Given the description of an element on the screen output the (x, y) to click on. 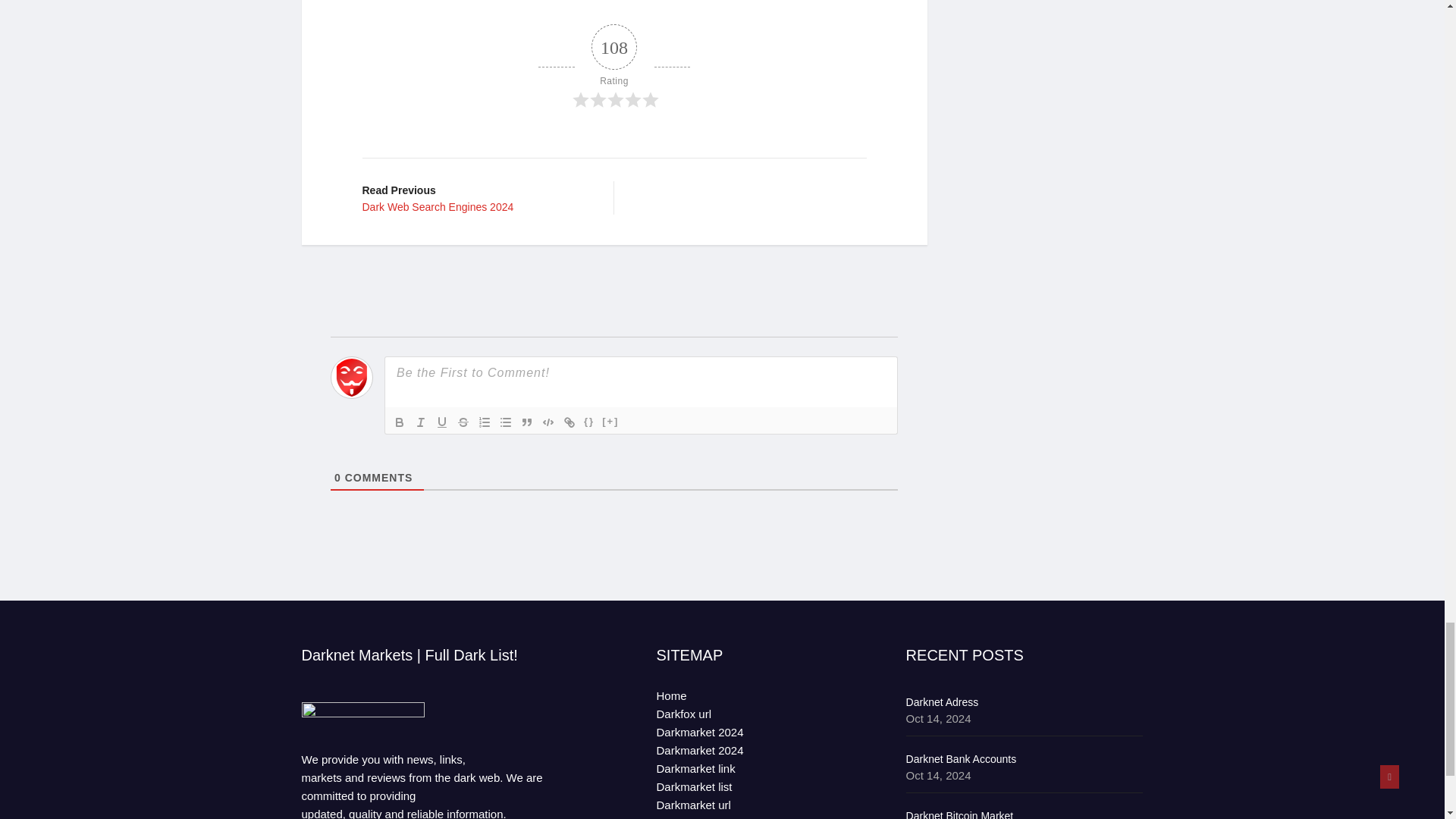
Ordered List (484, 422)
Source Code (588, 422)
Strike (463, 422)
Underline (476, 197)
Unordered List (441, 422)
Spoiler (505, 422)
Rating (610, 422)
Blockquote (614, 66)
Code Block (526, 422)
Link (548, 422)
Italic (569, 422)
Bold (420, 422)
